Given the description of an element on the screen output the (x, y) to click on. 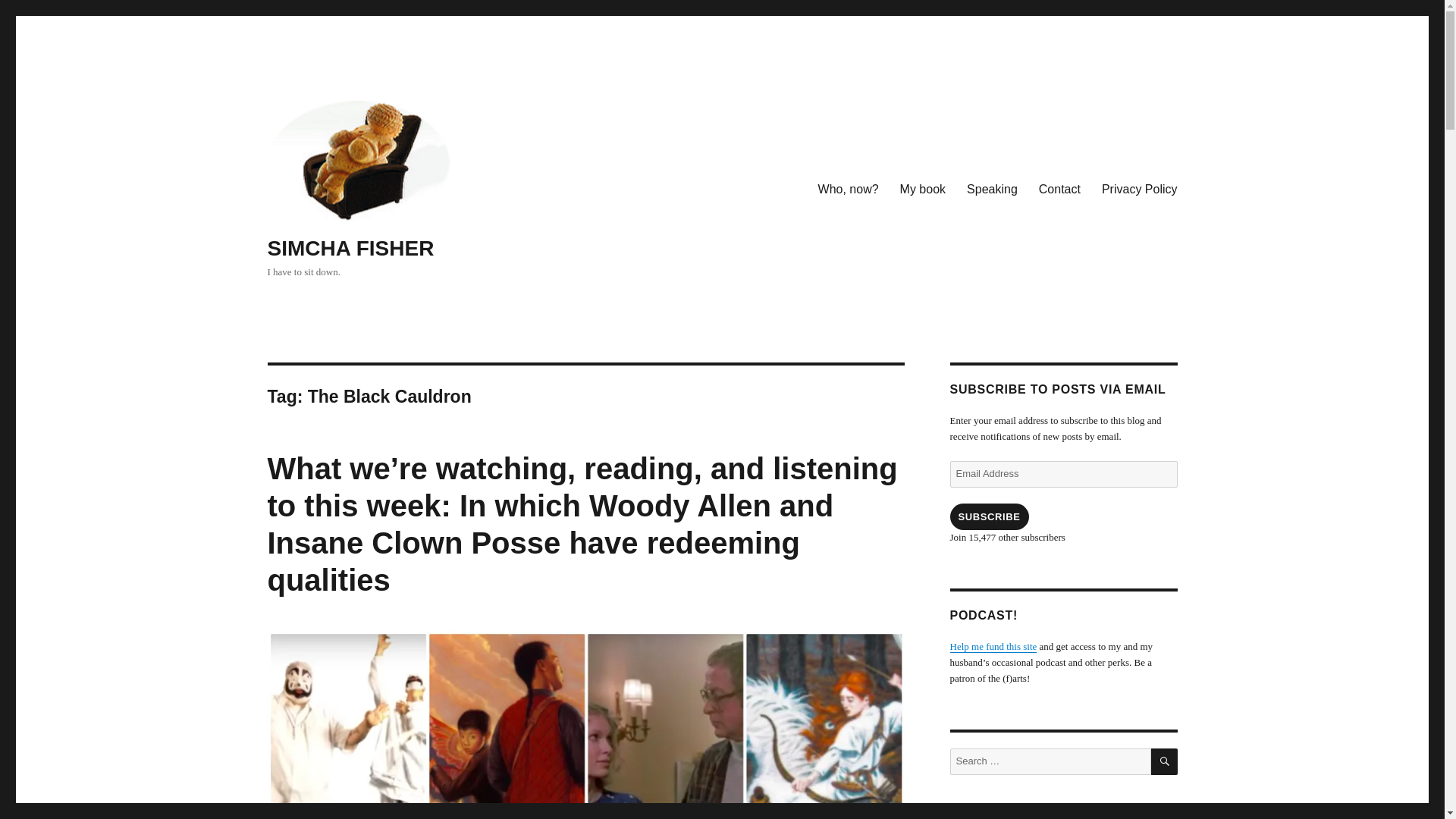
Who, now? (848, 189)
Contact (1058, 189)
Speaking (991, 189)
Privacy Policy (1139, 189)
SIMCHA FISHER (349, 248)
My book (922, 189)
